Given the description of an element on the screen output the (x, y) to click on. 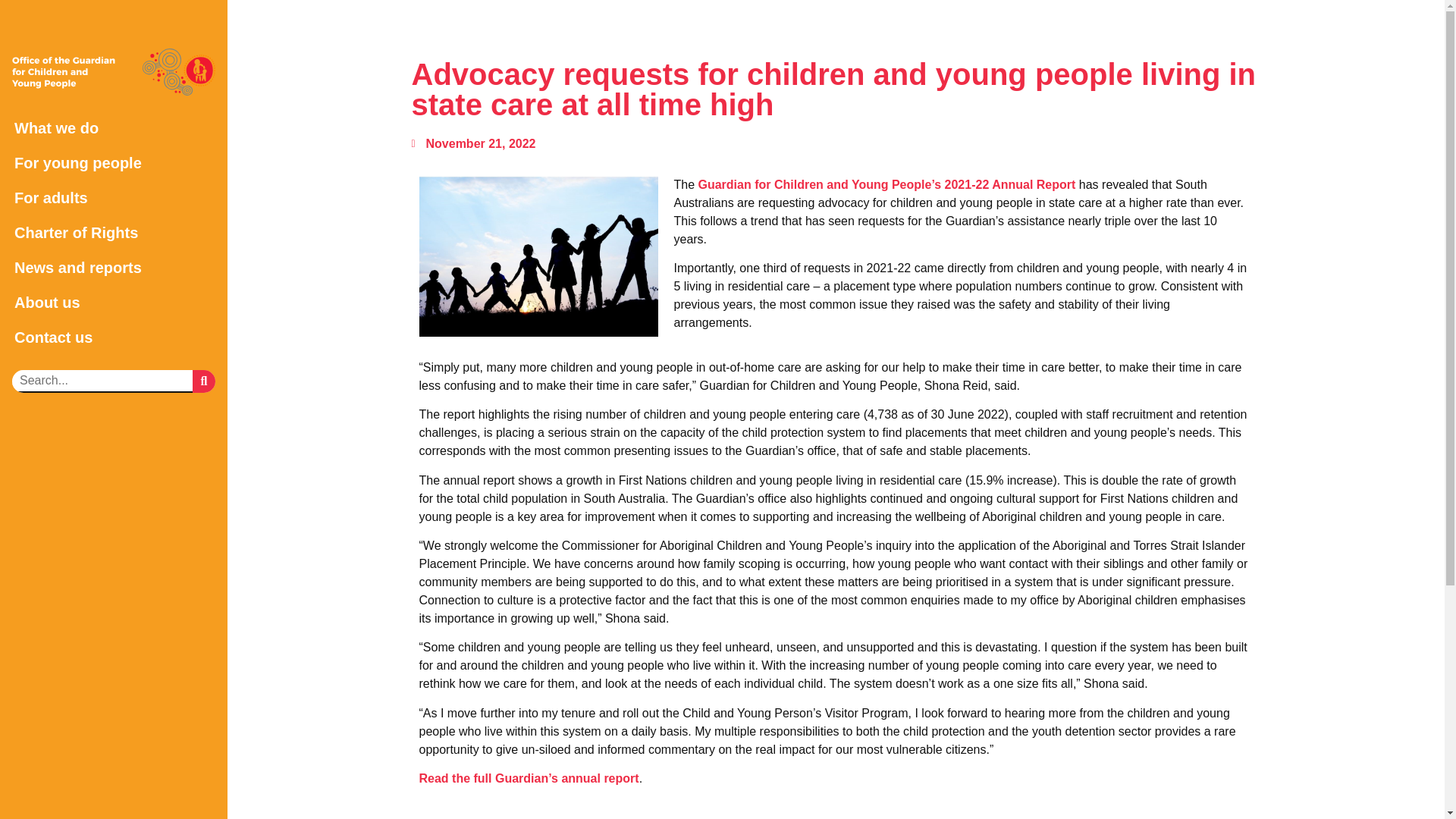
Charter of Rights (113, 232)
Contact us (113, 337)
News and reports (113, 267)
For young people (113, 162)
About us (113, 302)
What we do (113, 127)
For adults (113, 197)
